Given the description of an element on the screen output the (x, y) to click on. 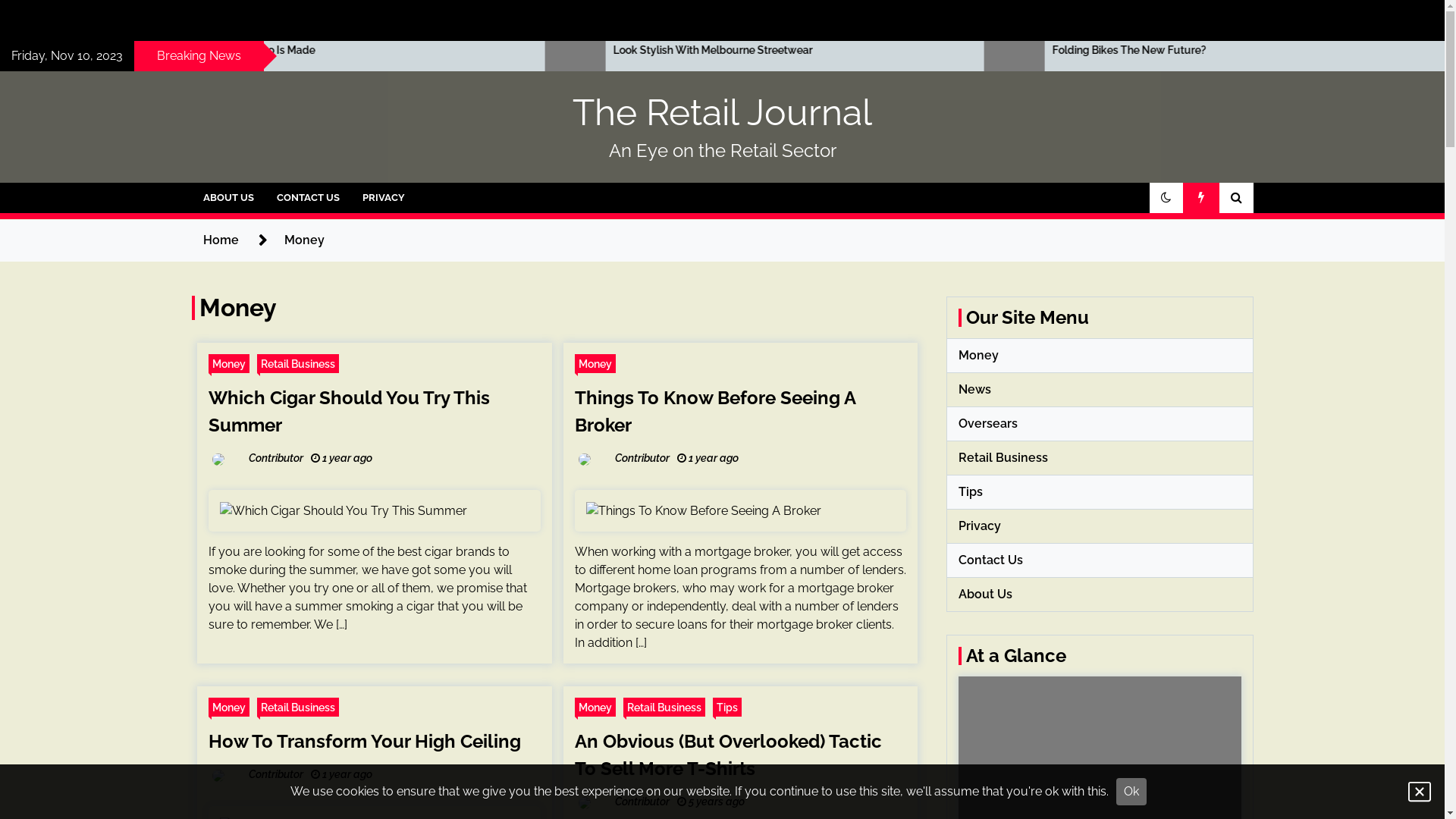
ABOUT US Element type: text (227, 197)
Money Element type: text (978, 355)
Money Element type: text (228, 363)
Contributor Element type: text (257, 774)
Hottest Melbourne Streetwear Trends Element type: text (250, 49)
Things To Know Before Seeing A Broker Element type: text (714, 411)
How Drinking Cacao Is Made Element type: text (684, 49)
CONTACT US Element type: text (308, 197)
Money Element type: text (594, 363)
Which Cigar Should You Try This Summer Element type: text (348, 411)
Retail Business Element type: text (297, 363)
Money Element type: text (228, 706)
Look Stylish With Melbourne Streetwear Element type: text (1118, 49)
Contributor Element type: text (623, 458)
News Element type: text (974, 389)
Contributor Element type: text (257, 458)
About Us Element type: text (985, 593)
Privacy Element type: text (979, 525)
Money Element type: text (594, 706)
Oversears Element type: text (987, 423)
Retail Business Element type: text (297, 706)
Contact Us Element type: text (990, 559)
Tips Element type: text (970, 491)
Tips Element type: text (726, 706)
The Retail Journal Element type: text (722, 112)
Home Element type: text (220, 239)
Ok Element type: text (1131, 791)
Retail Business Element type: text (1003, 457)
Retail Business Element type: text (664, 706)
How To Transform Your High Ceiling Element type: text (364, 741)
Contributor Element type: text (623, 801)
An Obvious (But Overlooked) Tactic To Sell More T-Shirts Element type: text (727, 754)
PRIVACY Element type: text (382, 197)
